Given the description of an element on the screen output the (x, y) to click on. 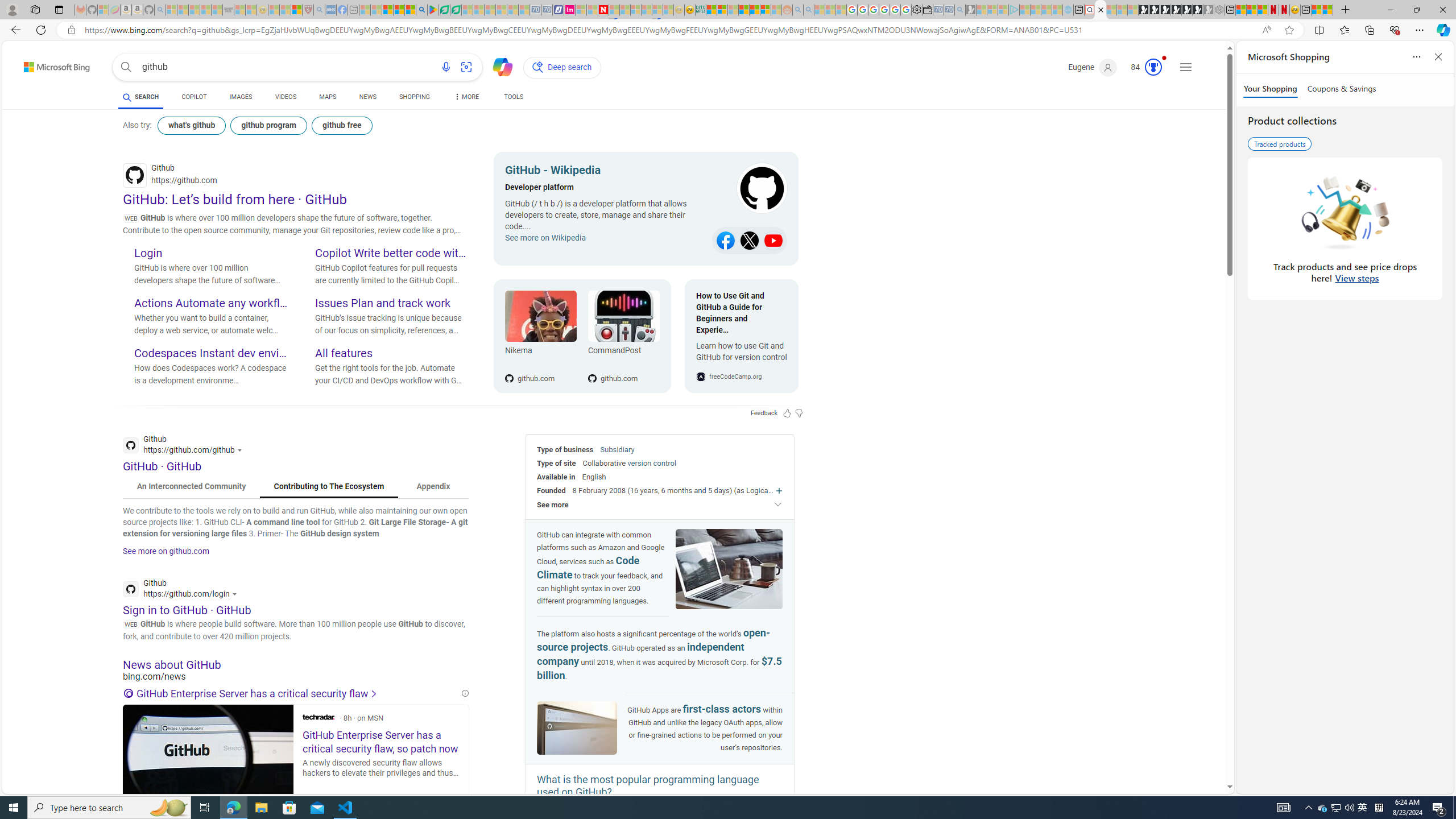
NEWS (367, 98)
MORE (465, 98)
Feedback Dislike (798, 412)
GitHub - Wikipedia (604, 171)
AutomationID: mfa_root (1186, 752)
